Given the description of an element on the screen output the (x, y) to click on. 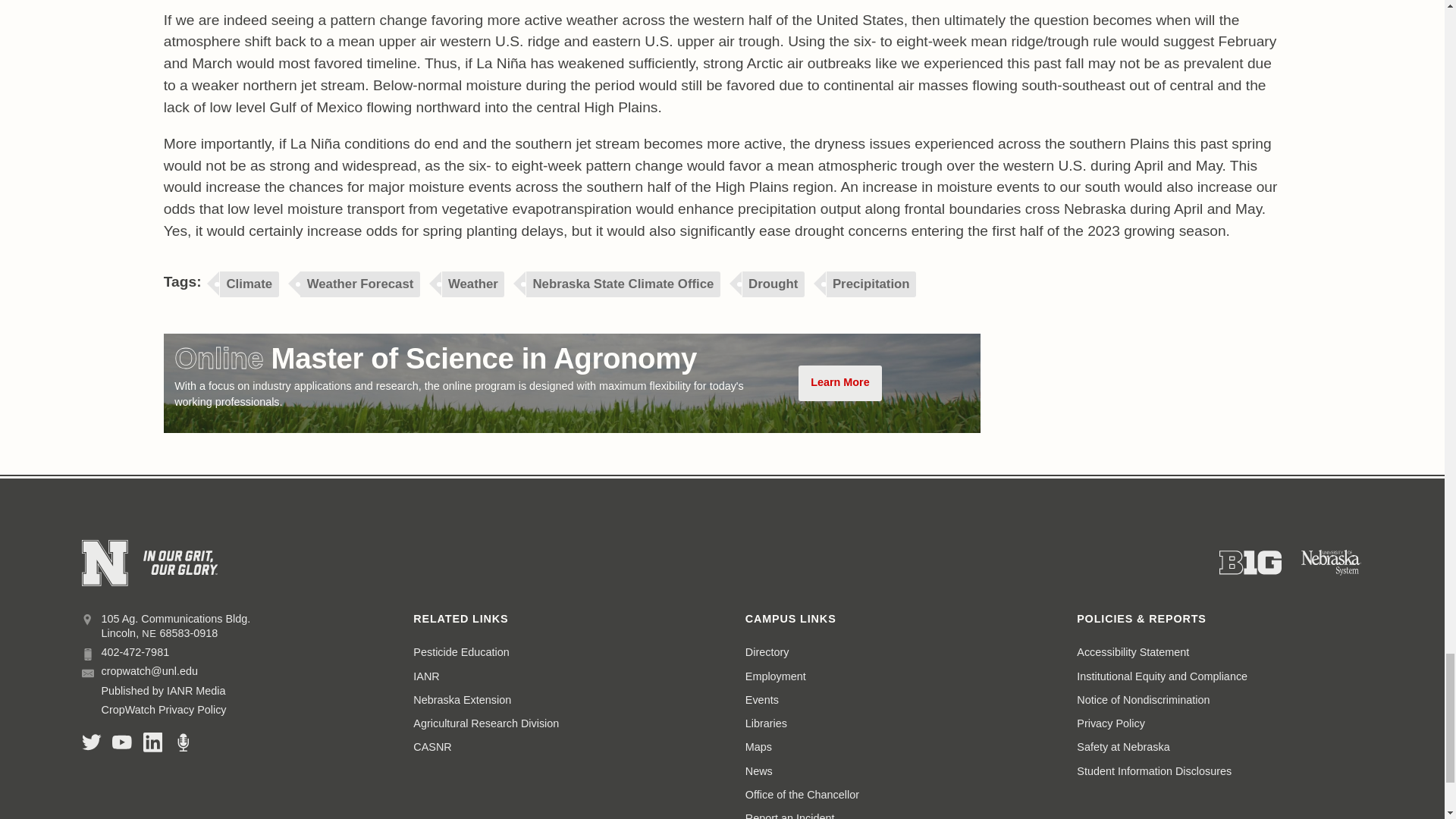
IANR (426, 675)
Nebraska (148, 633)
Pesticide Education (460, 652)
LinkedIn (152, 741)
